Given the description of an element on the screen output the (x, y) to click on. 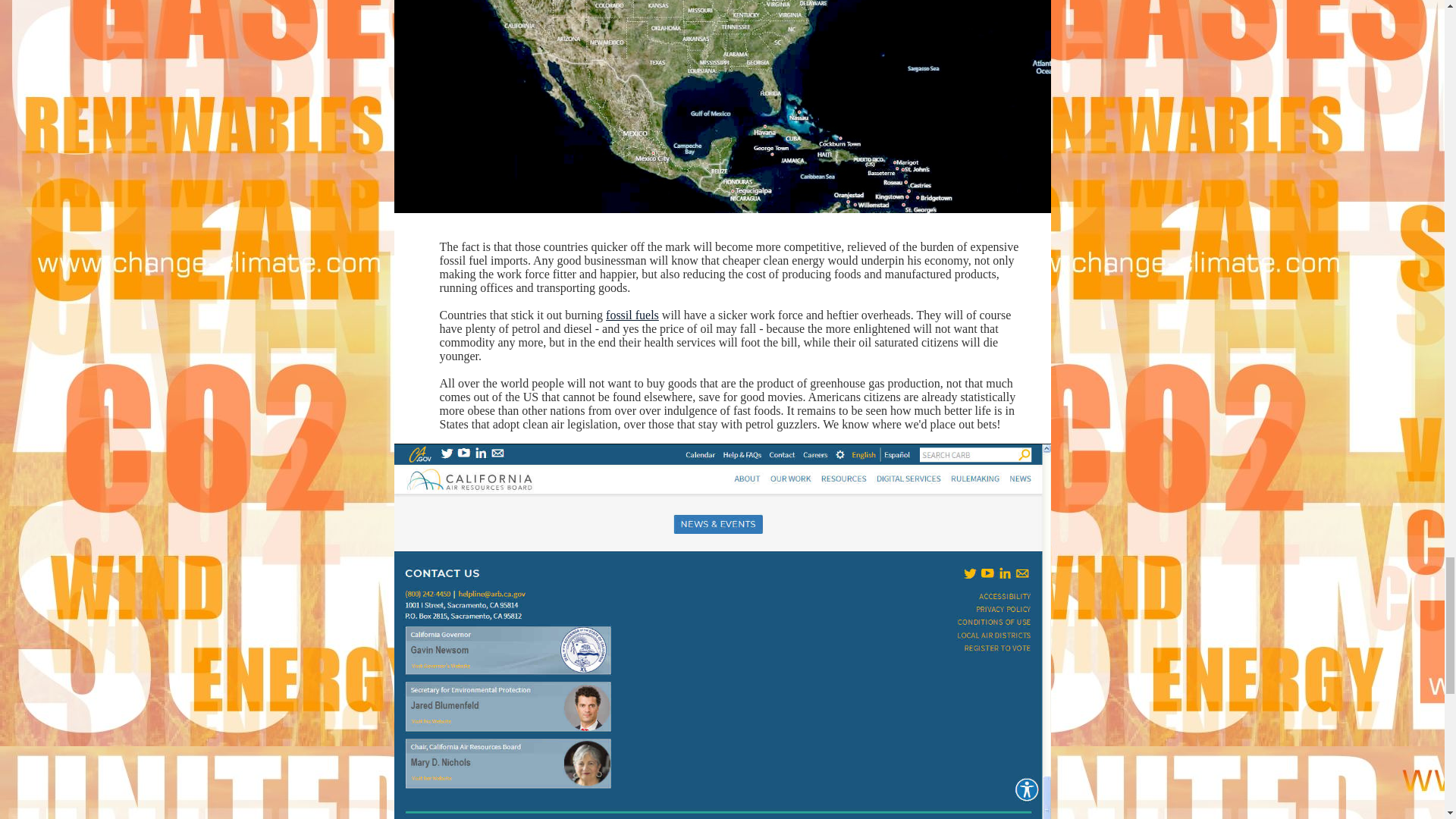
fossil fuels (632, 314)
